Given the description of an element on the screen output the (x, y) to click on. 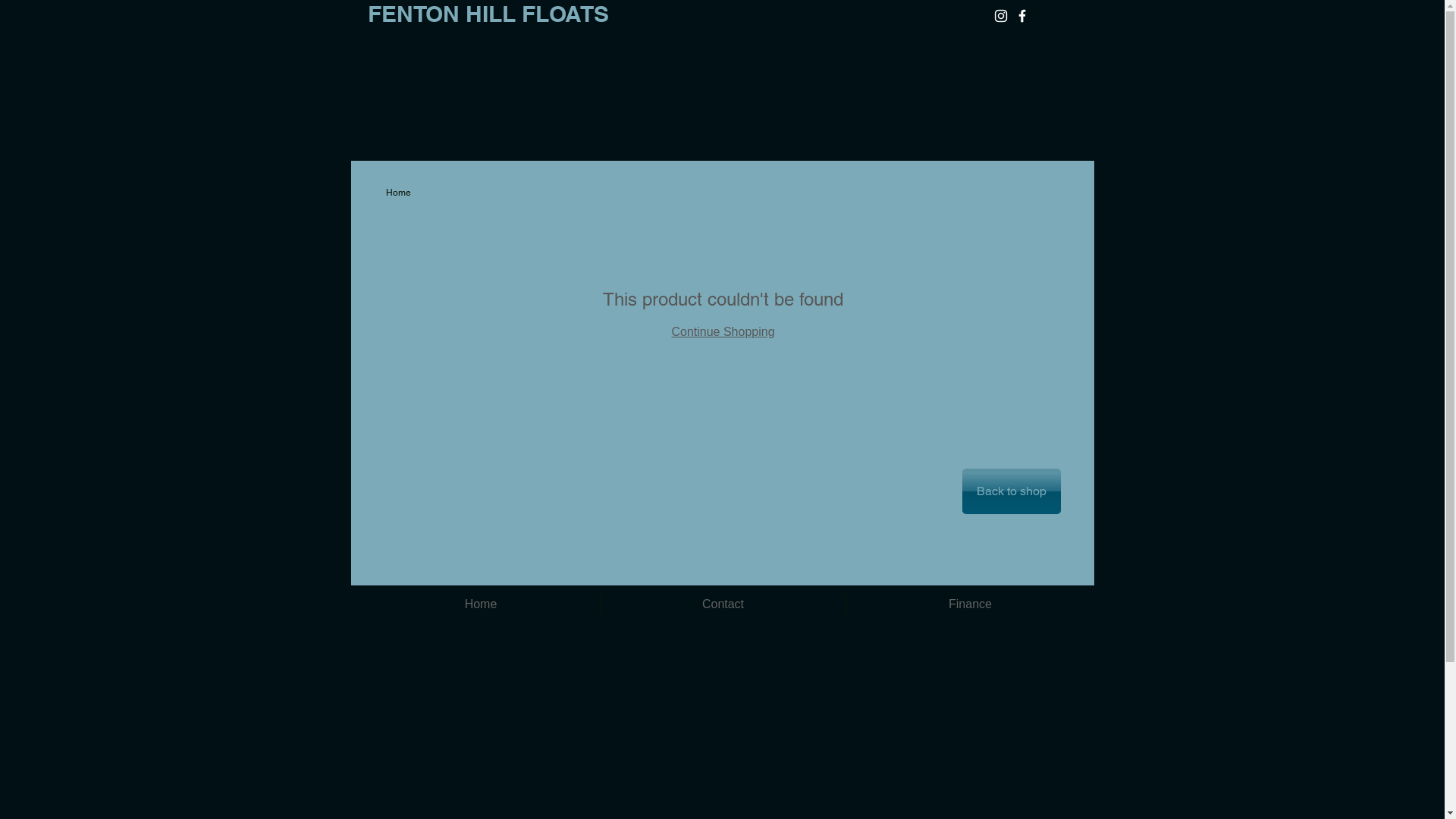
Finance Element type: text (969, 604)
Home Element type: text (397, 192)
Back to shop Element type: text (1010, 491)
Contact Element type: text (723, 604)
Continue Shopping Element type: text (722, 331)
Home Element type: text (480, 604)
